Given the description of an element on the screen output the (x, y) to click on. 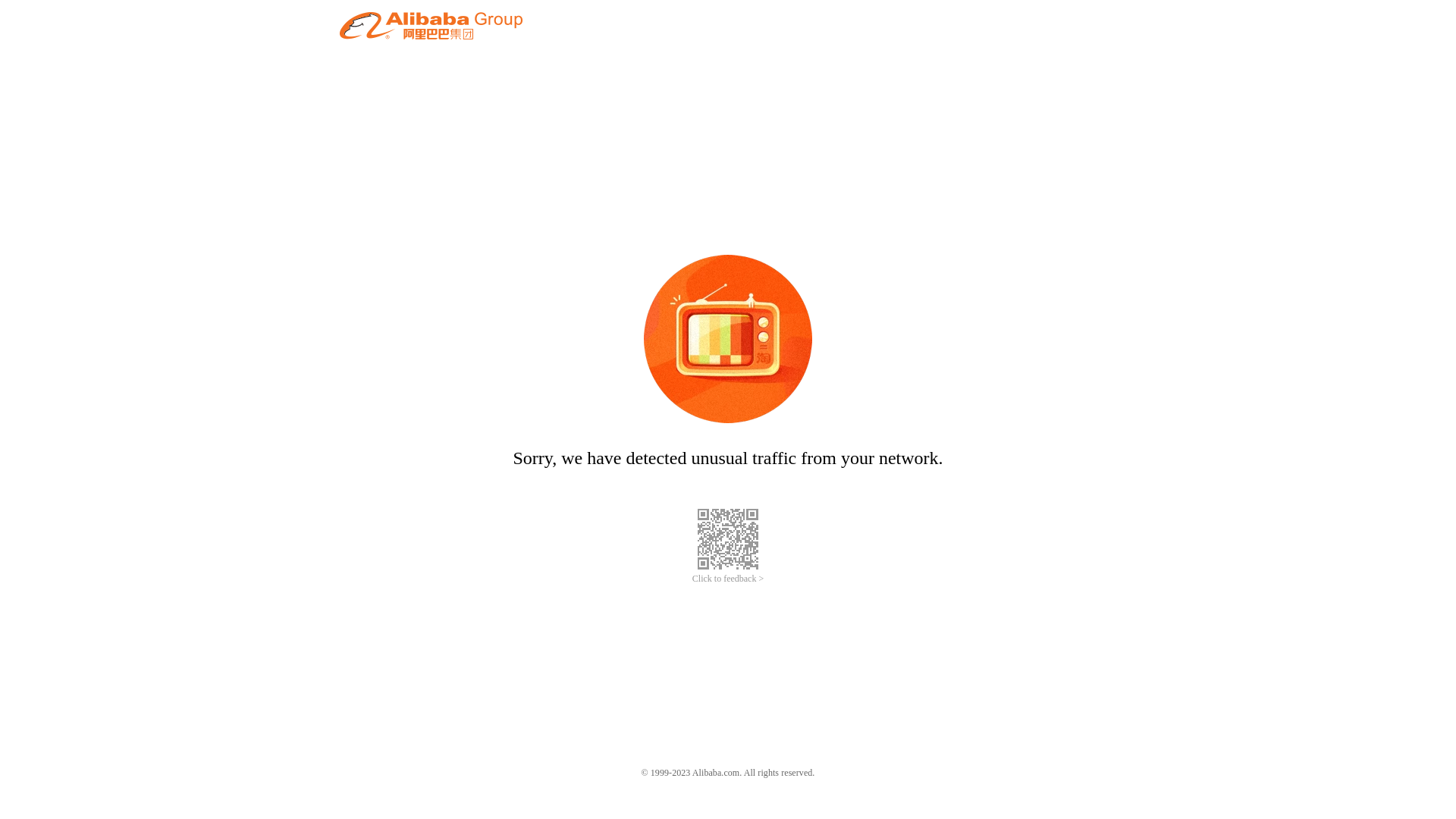
Click to feedback > Element type: text (727, 578)
